Given the description of an element on the screen output the (x, y) to click on. 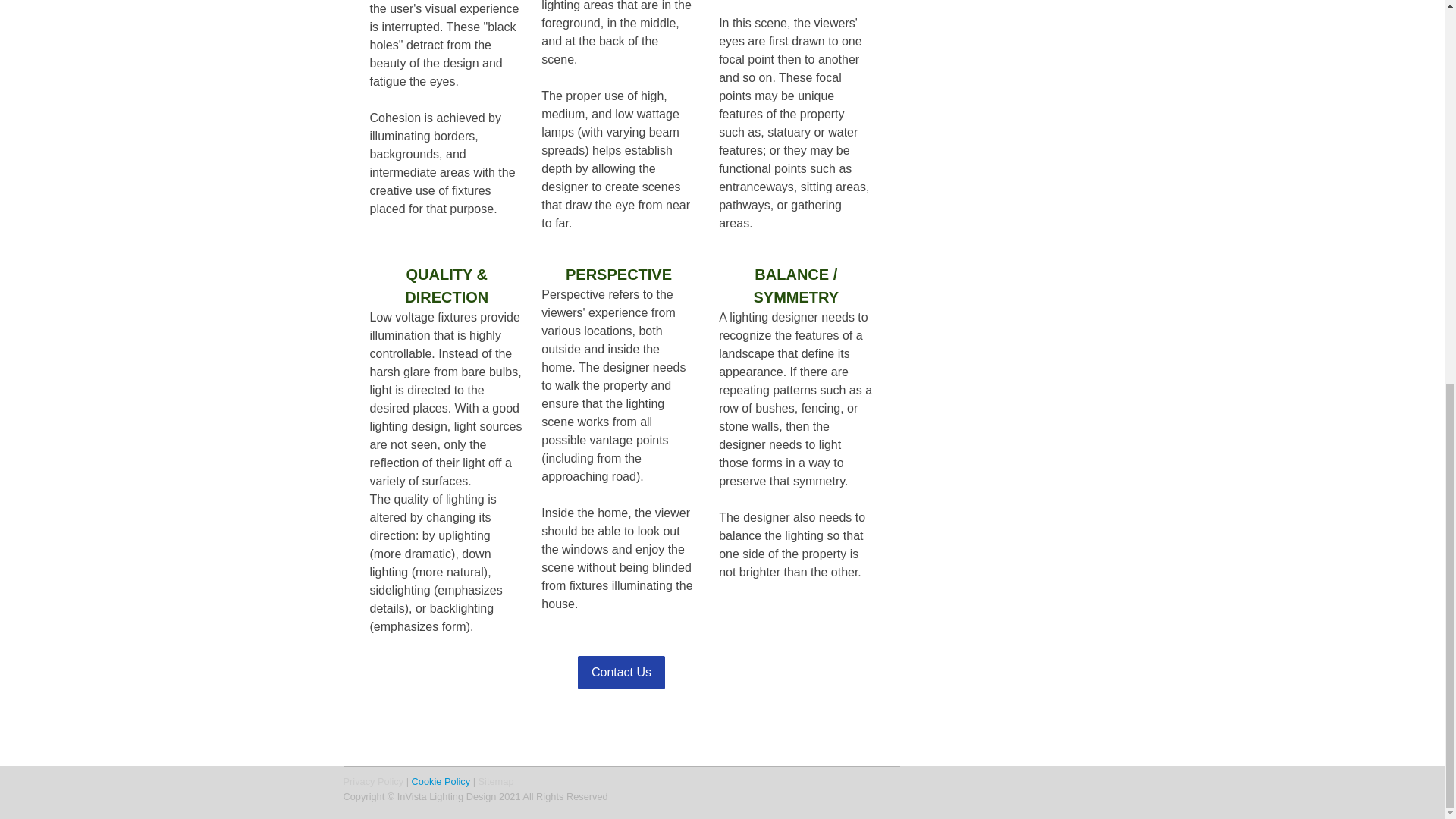
Privacy Policy (372, 781)
Sitemap (496, 781)
Contact Us (621, 672)
Cookie Policy (441, 781)
